Given the description of an element on the screen output the (x, y) to click on. 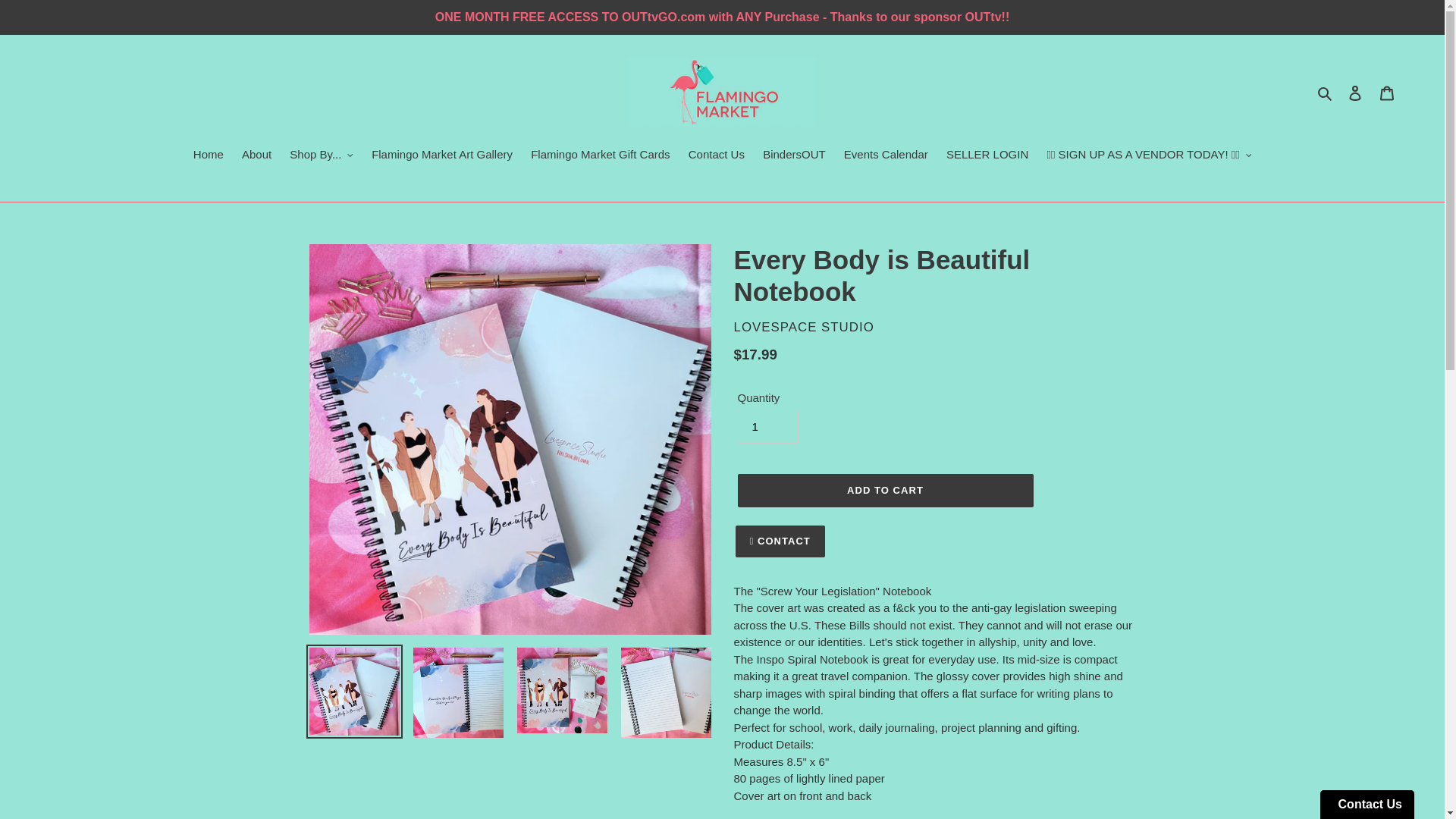
Log in (1355, 92)
Search (1326, 92)
Cart (1387, 92)
1 (766, 426)
